Given the description of an element on the screen output the (x, y) to click on. 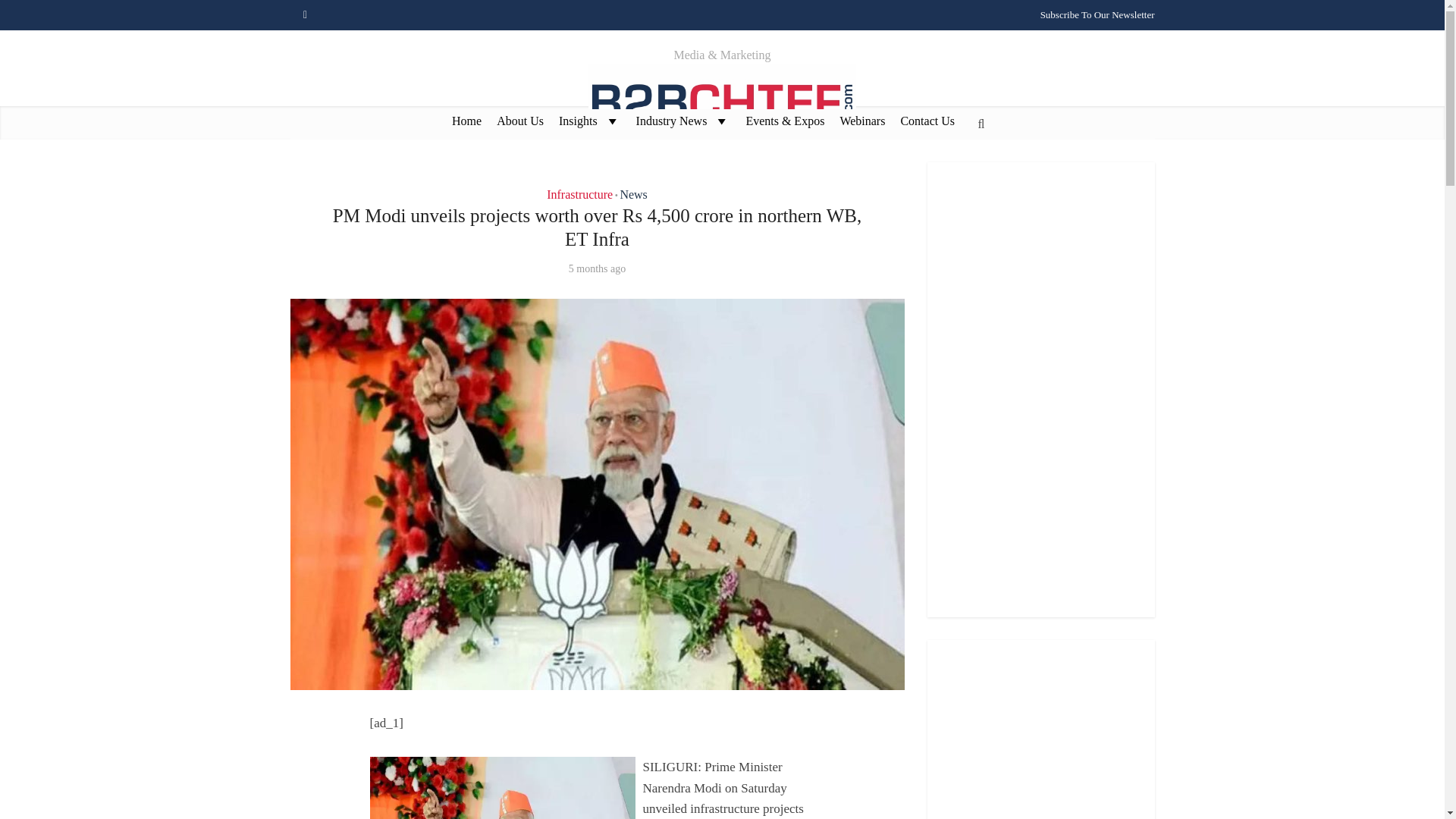
Industry News (683, 119)
Insights (589, 119)
Subscribe To Our Newsletter (1097, 14)
About Us (520, 119)
Advertisement (1040, 729)
Home (466, 119)
